Given the description of an element on the screen output the (x, y) to click on. 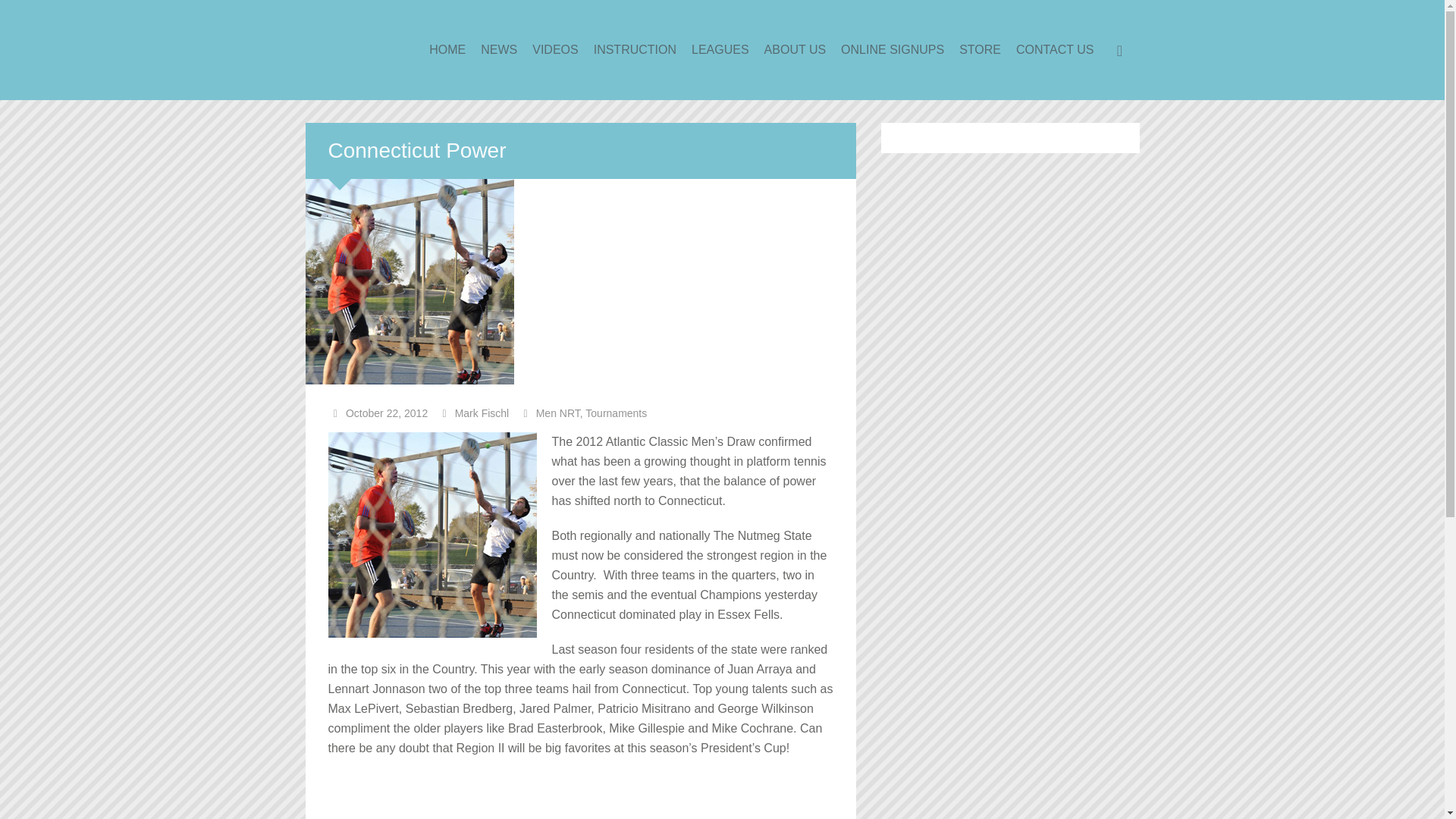
Posts by Mark Fischl (481, 413)
Connecticut Power (416, 150)
Men NRT (557, 413)
Tournaments (615, 413)
Connecticut Power (416, 150)
ONLINE SIGNUPS (892, 49)
Mark Fischl (481, 413)
